Given the description of an element on the screen output the (x, y) to click on. 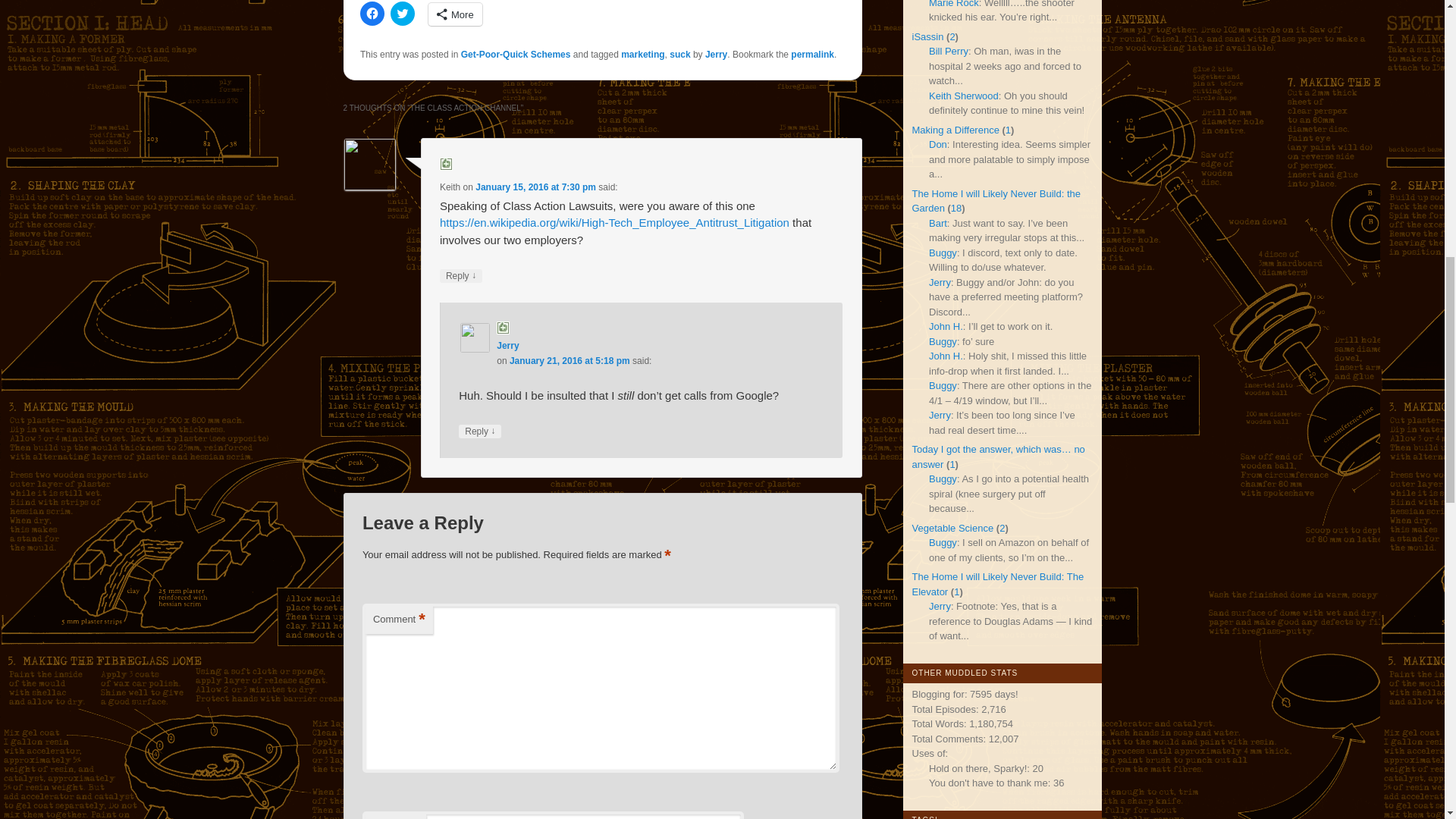
Get-Poor-Quick Schemes (515, 36)
Jerry (715, 36)
More (454, 4)
January 15, 2016 at 7:30 pm (535, 170)
Click to share on Twitter (402, 4)
Jerry (507, 328)
January 21, 2016 at 5:18 pm (569, 343)
Permalink to The Class Action Channel (812, 36)
permalink (812, 36)
suck (679, 36)
